Given the description of an element on the screen output the (x, y) to click on. 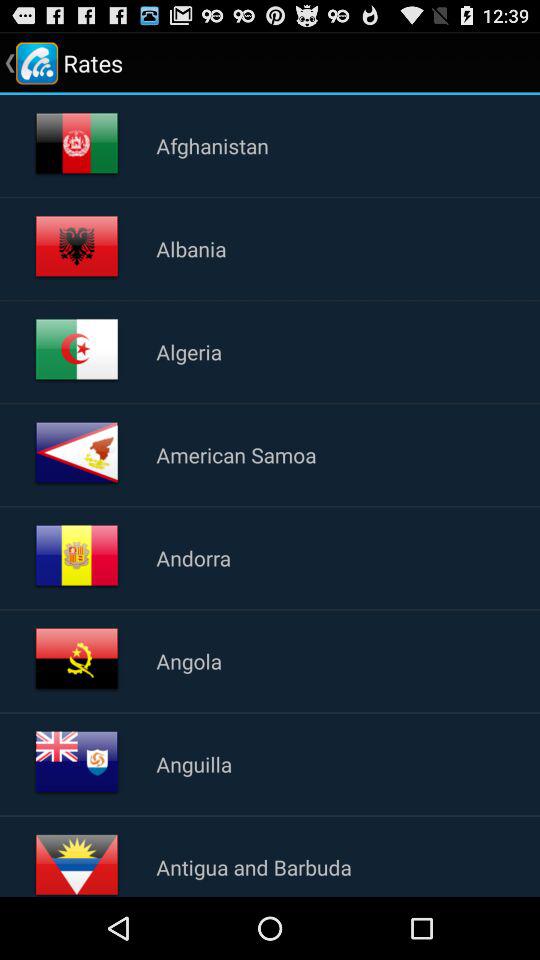
turn on the icon below the anguilla icon (253, 867)
